Given the description of an element on the screen output the (x, y) to click on. 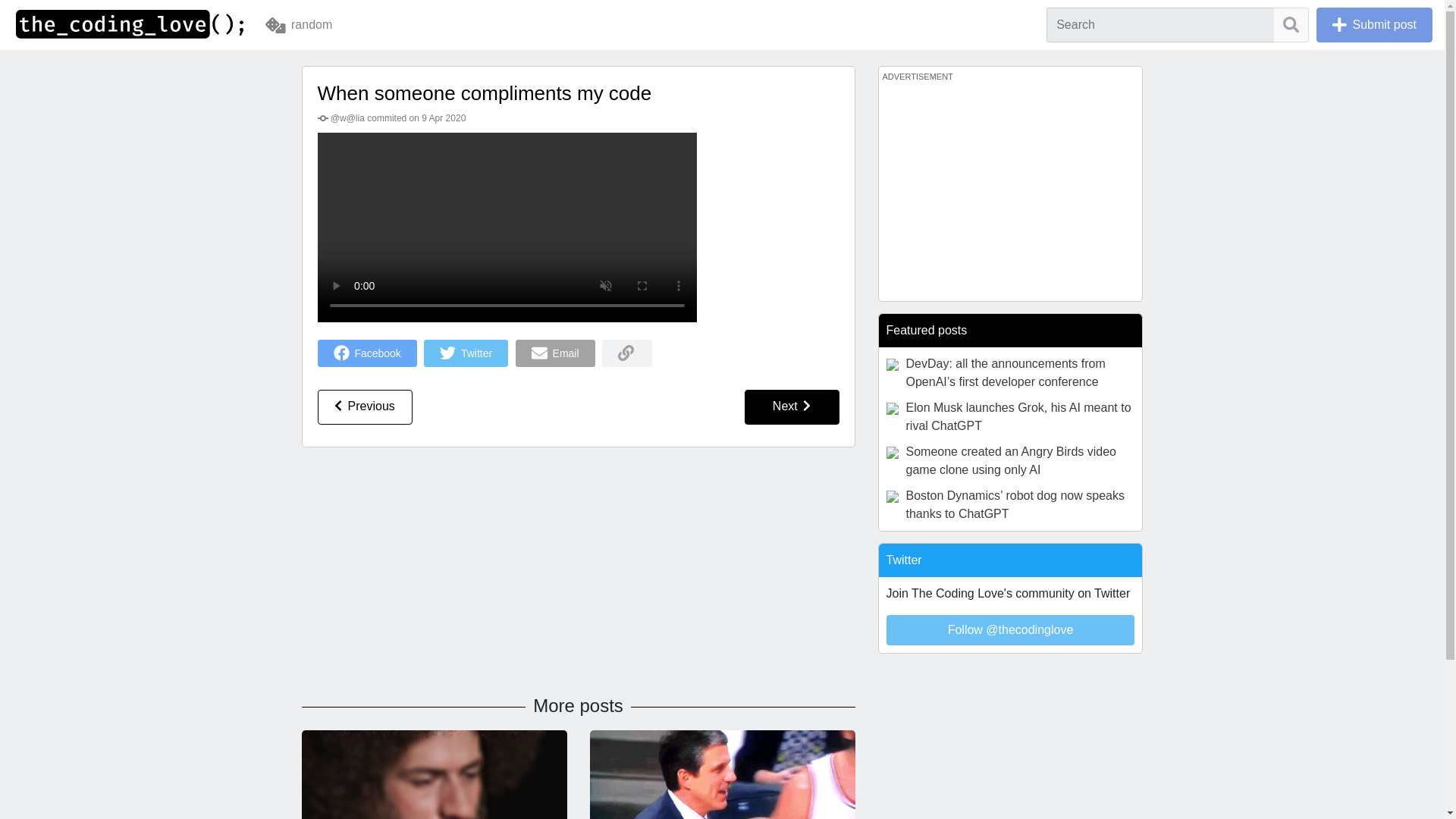
When the sales guy wants to advance a technical solution (722, 795)
Advertisement (578, 576)
Copy link (627, 352)
Elon Musk launches Grok, his AI meant to rival ChatGPT (1009, 416)
Twitter (465, 352)
Next (792, 407)
Twitter (469, 351)
random (298, 24)
Advertisement (1009, 191)
